Given the description of an element on the screen output the (x, y) to click on. 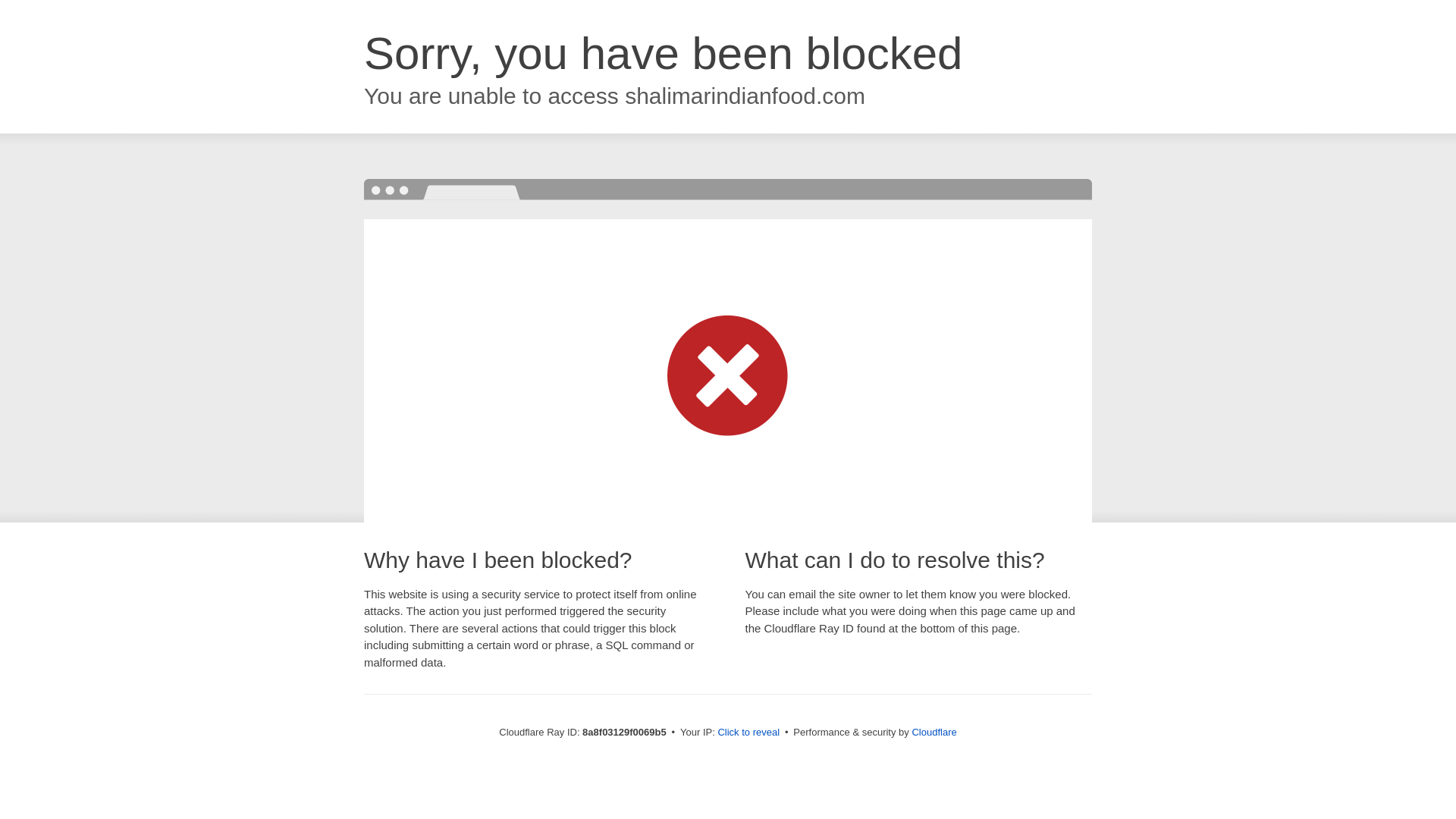
Click to reveal (747, 732)
Cloudflare (933, 731)
